Given the description of an element on the screen output the (x, y) to click on. 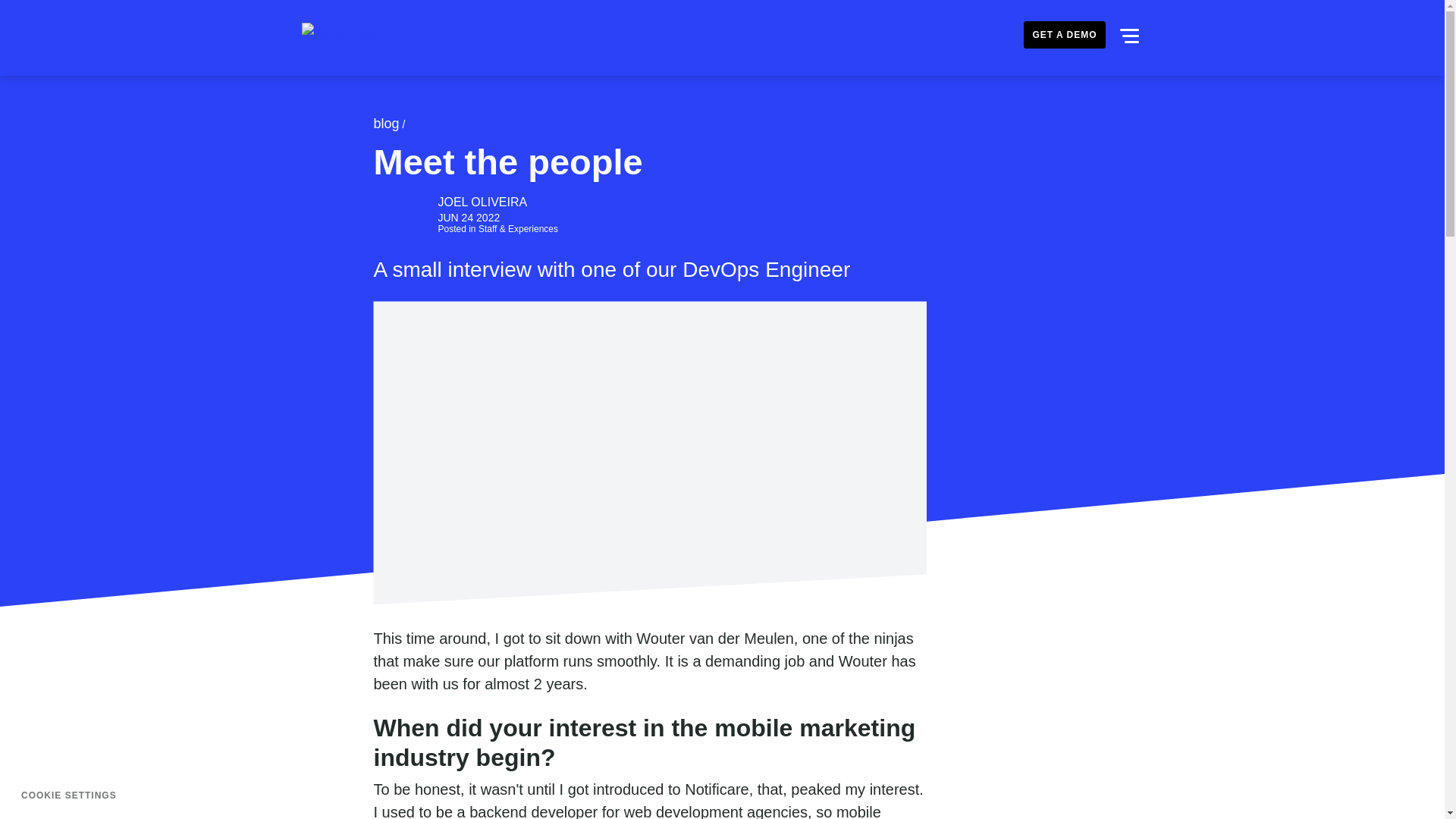
GET A DEMO (1064, 34)
blog (385, 123)
